Given the description of an element on the screen output the (x, y) to click on. 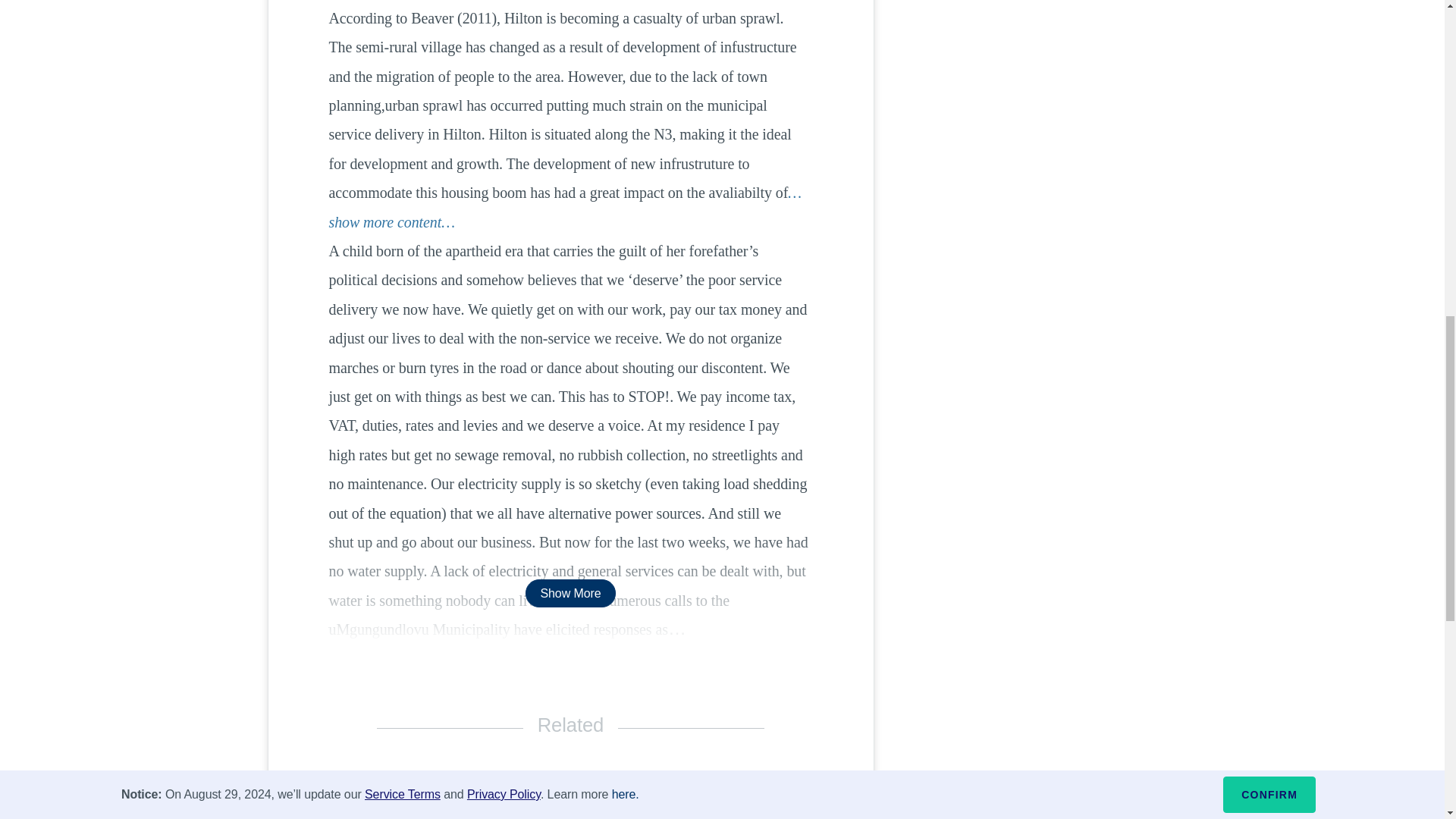
Show More (569, 593)
